Given the description of an element on the screen output the (x, y) to click on. 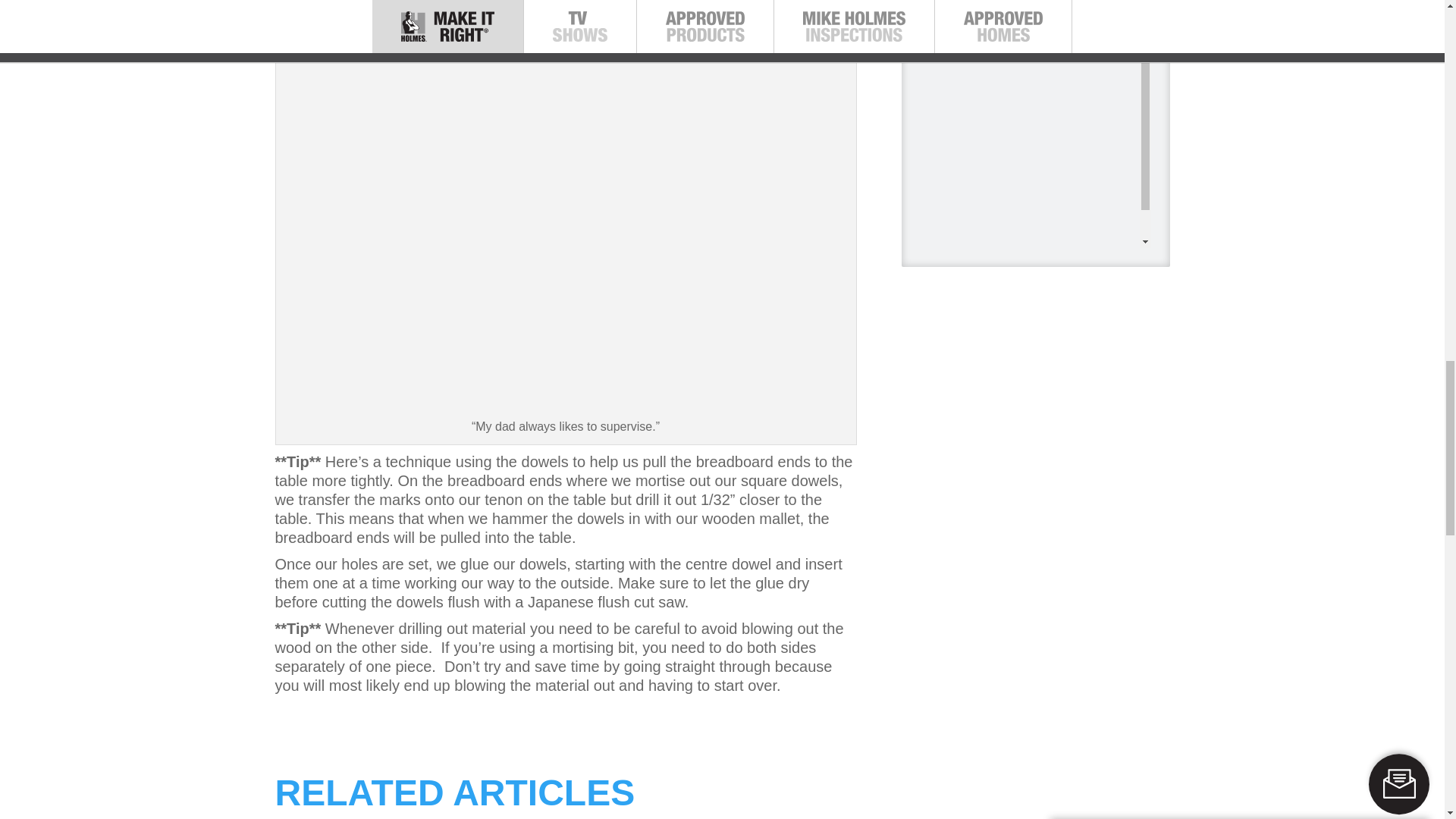
Mike Holmes (943, 11)
